Given the description of an element on the screen output the (x, y) to click on. 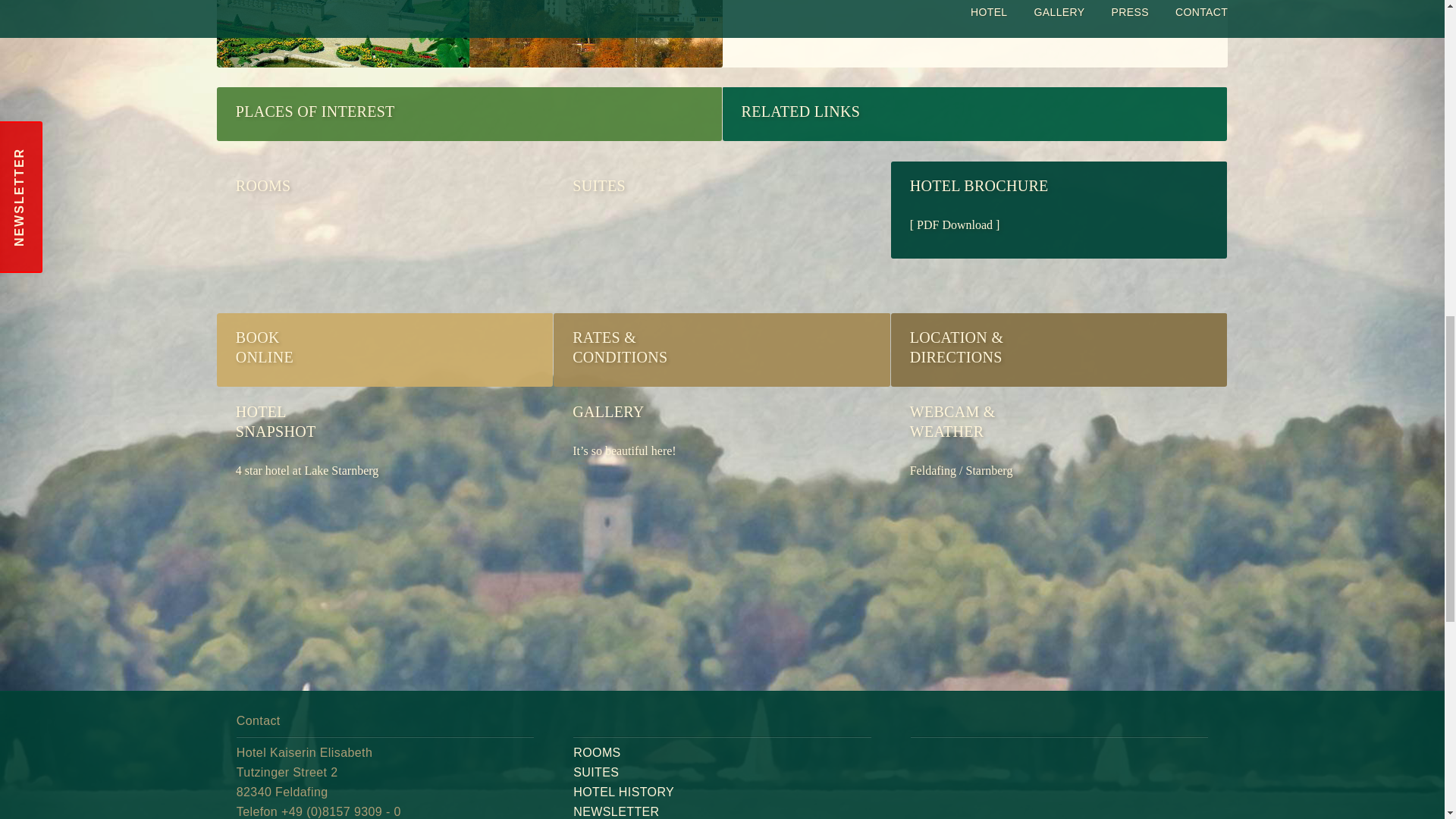
ROOMS (596, 752)
Gallery (383, 462)
Hotel at Lake Starnberg (720, 462)
Rooms (383, 462)
Related Links (720, 236)
Book online (383, 236)
PLACES OF INTEREST (383, 236)
